Given the description of an element on the screen output the (x, y) to click on. 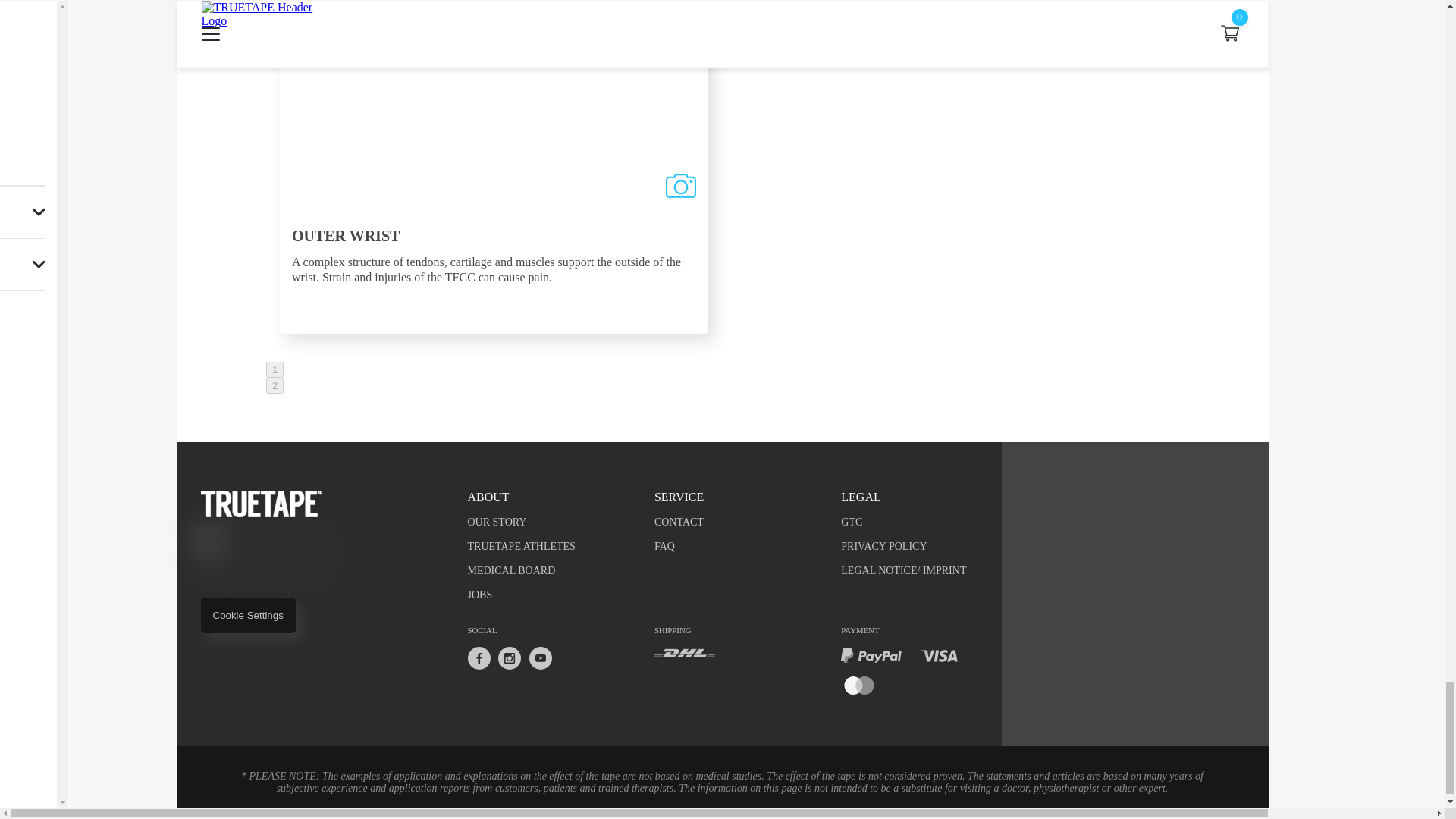
MEDICAL BOARD (547, 571)
FAQ (733, 546)
GTC (921, 522)
Cookie Settings (247, 615)
CONTACT (733, 522)
2 (274, 385)
1 (274, 369)
OUR STORY (547, 522)
TRUETAPE ATHLETES (547, 546)
